Given the description of an element on the screen output the (x, y) to click on. 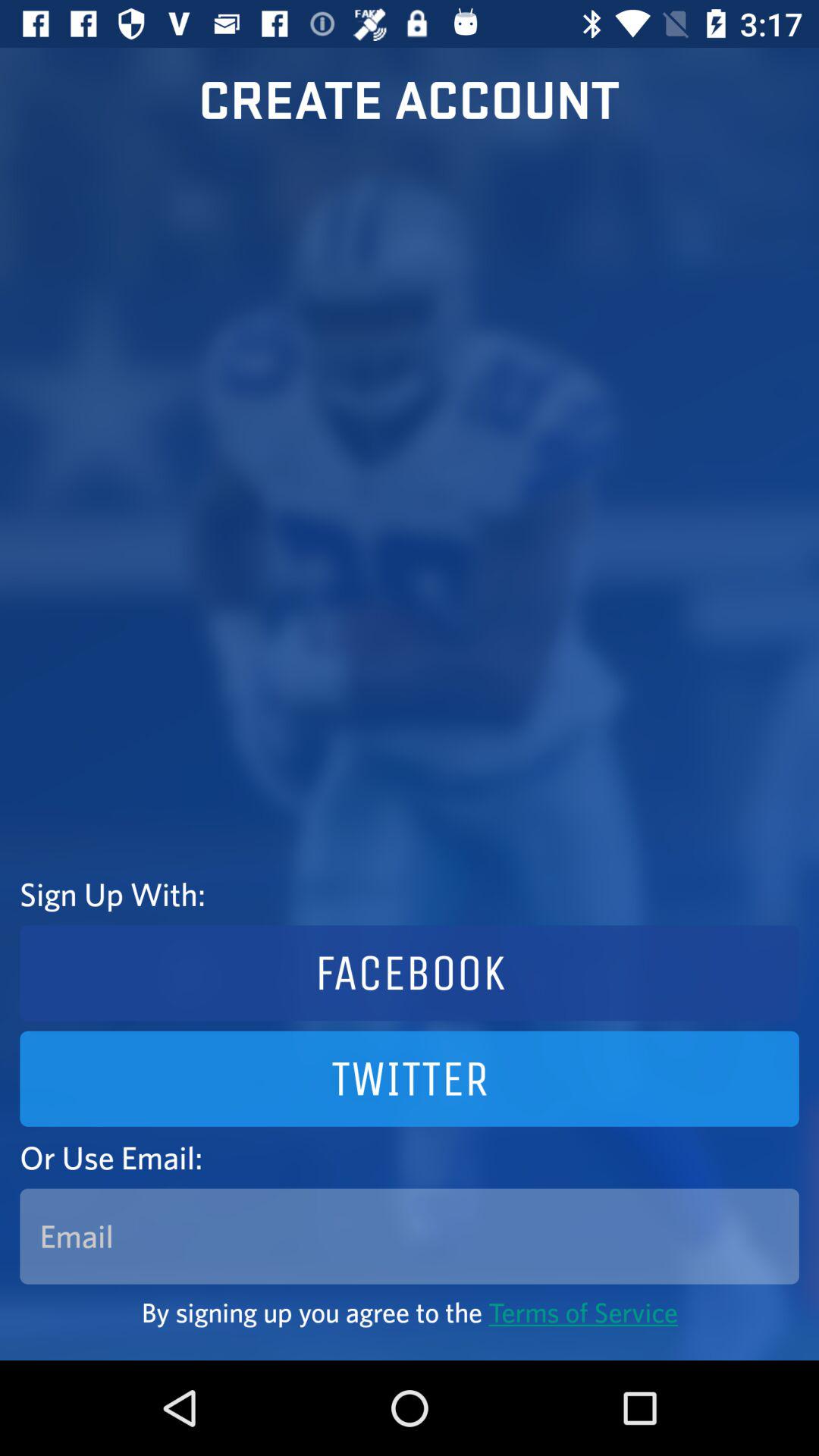
turn on the item below the sign up with: (409, 972)
